Given the description of an element on the screen output the (x, y) to click on. 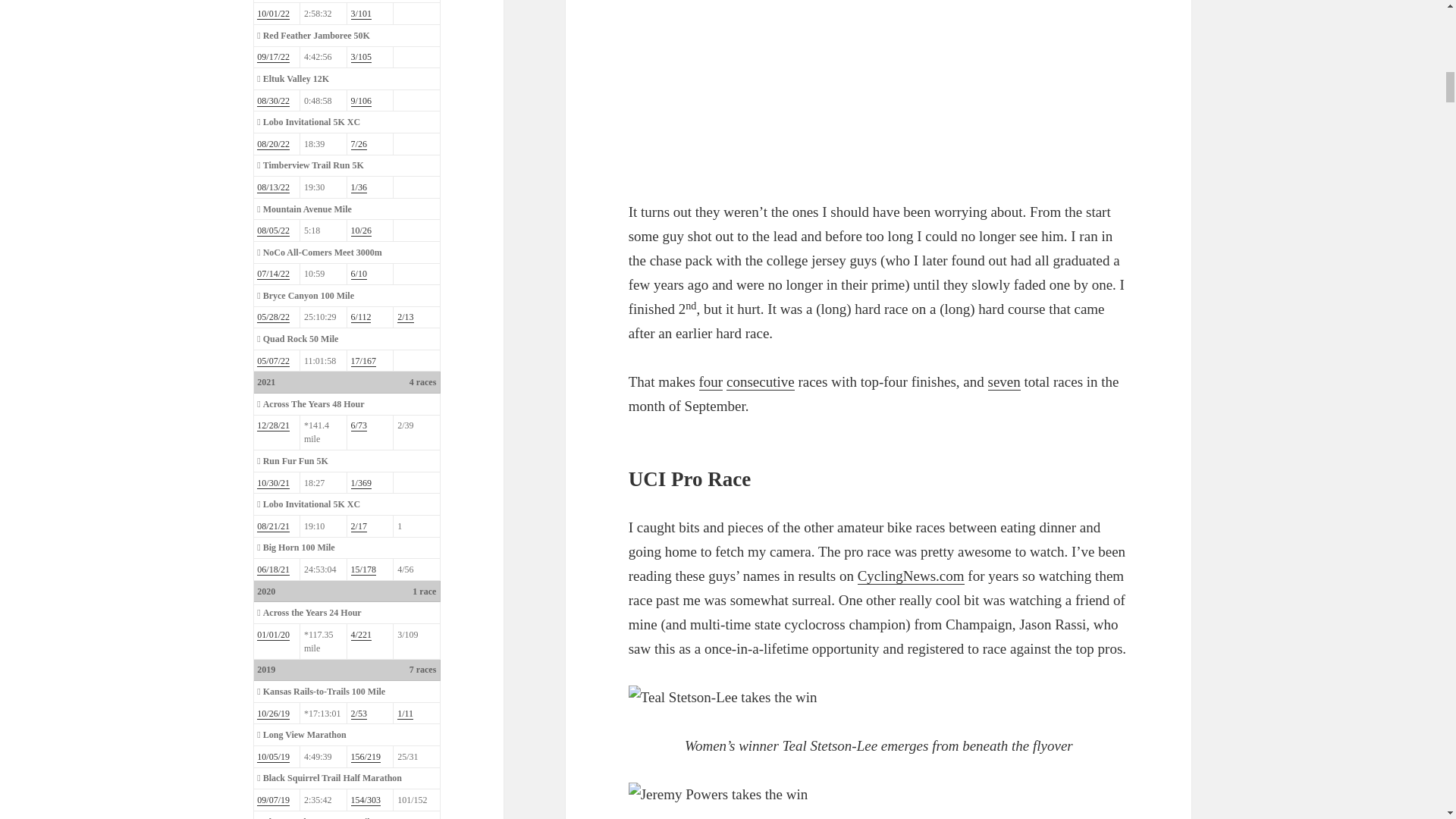
Gateway Cross Cup 5K run bib (817, 88)
View 'Teal Stetson-Lee takes the win' on Flickr.com (878, 697)
View 'Jeremy Powers takes the win' on Flickr.com (878, 800)
View 'Gateway Cross Cup 5K run bib' on Flickr.com (878, 88)
Jeremy Powers takes the win (817, 800)
